Given the description of an element on the screen output the (x, y) to click on. 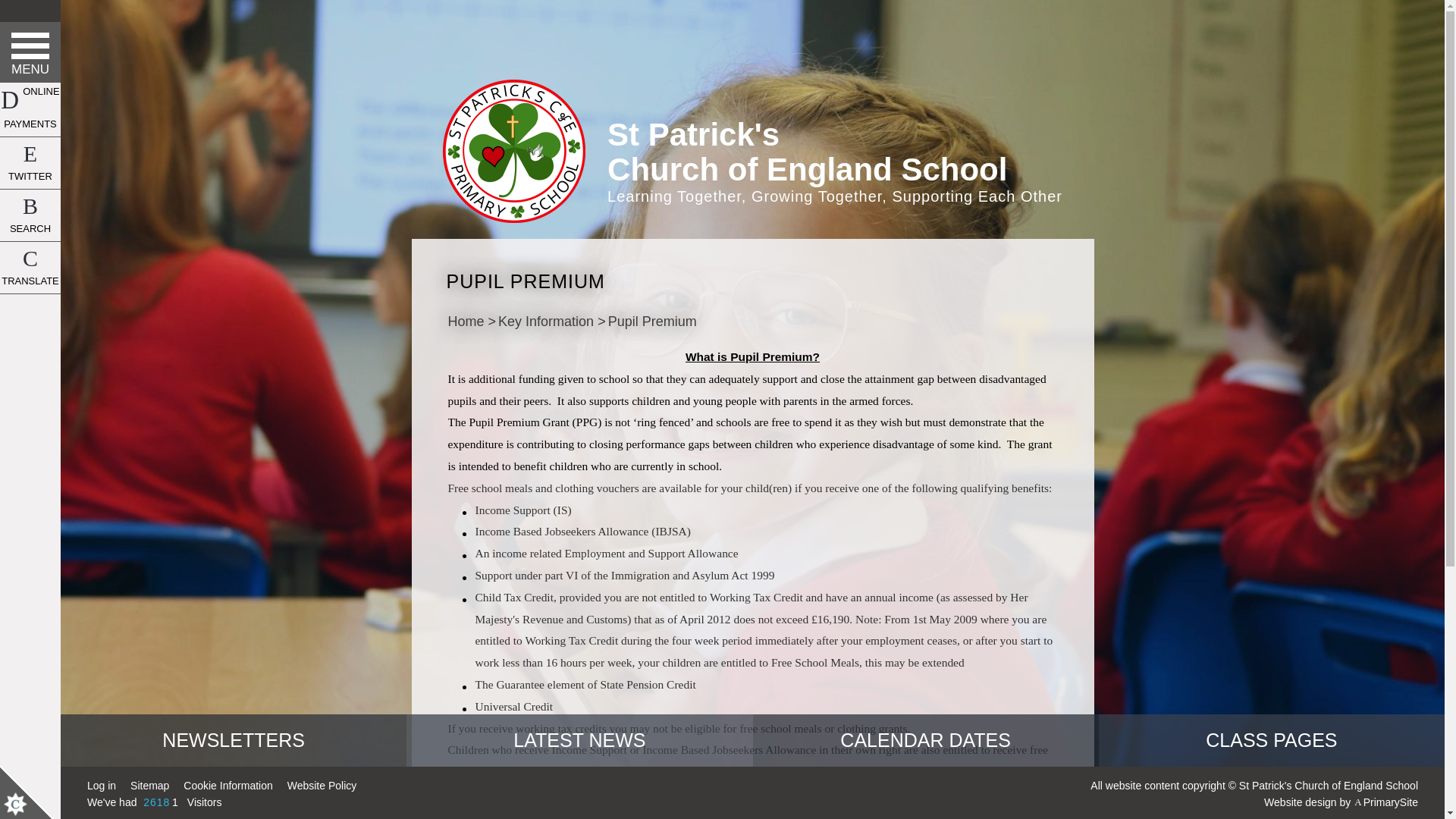
ABOUT US (30, 86)
PARENTS (30, 172)
KEY INFORMATION (30, 129)
Home Page (513, 150)
HOME (30, 43)
